Given the description of an element on the screen output the (x, y) to click on. 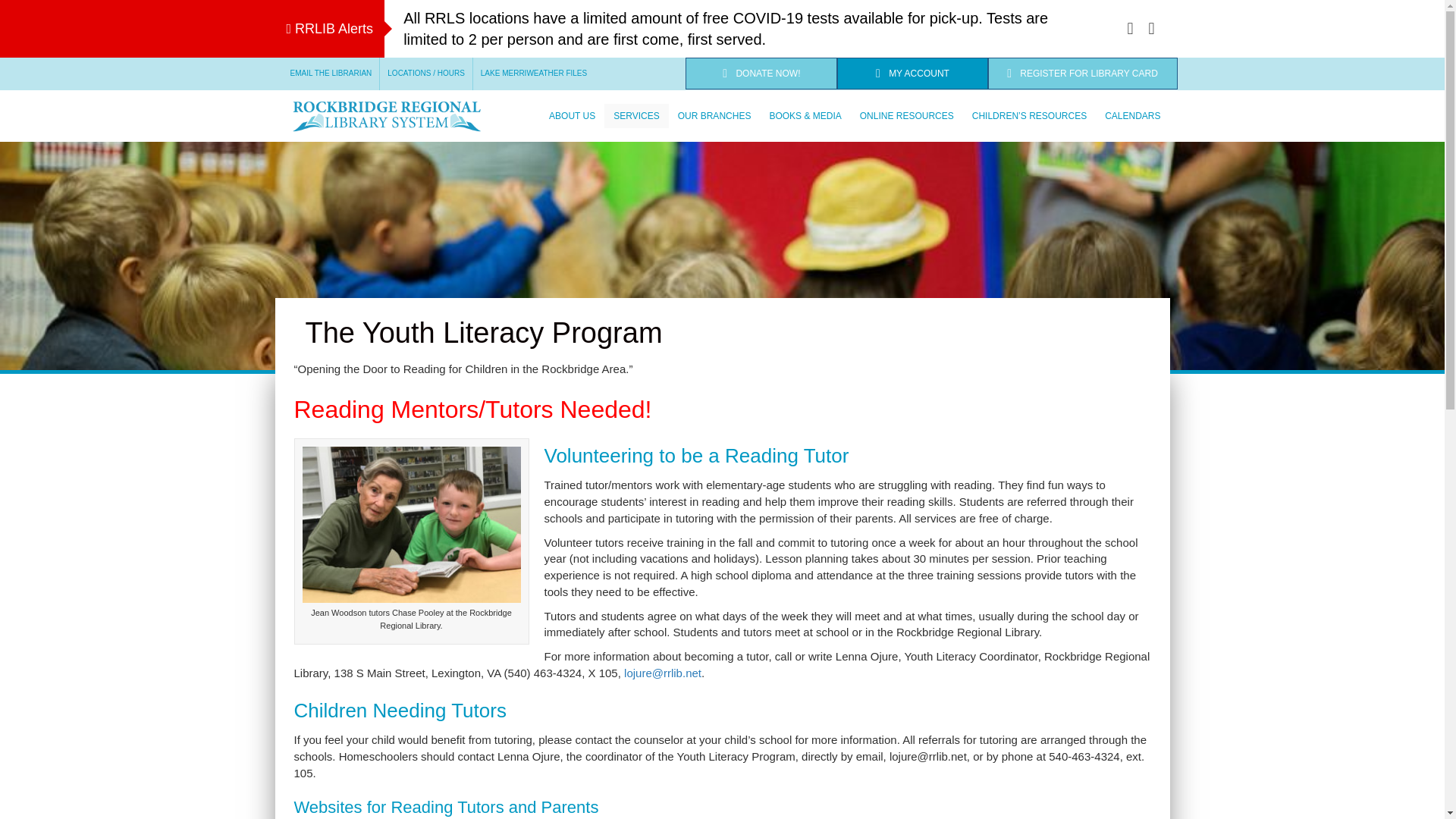
ABOUT US (572, 115)
LAKE MERRIWEATHER FILES (533, 73)
OUR BRANCHES (714, 115)
RRLS-nobooks-01 (386, 115)
SERVICES (636, 115)
EMAIL THE LIBRARIAN (330, 73)
REGISTER FOR LIBRARY CARD (1082, 73)
DONATE NOW! (761, 73)
MY ACCOUNT (912, 73)
